Given the description of an element on the screen output the (x, y) to click on. 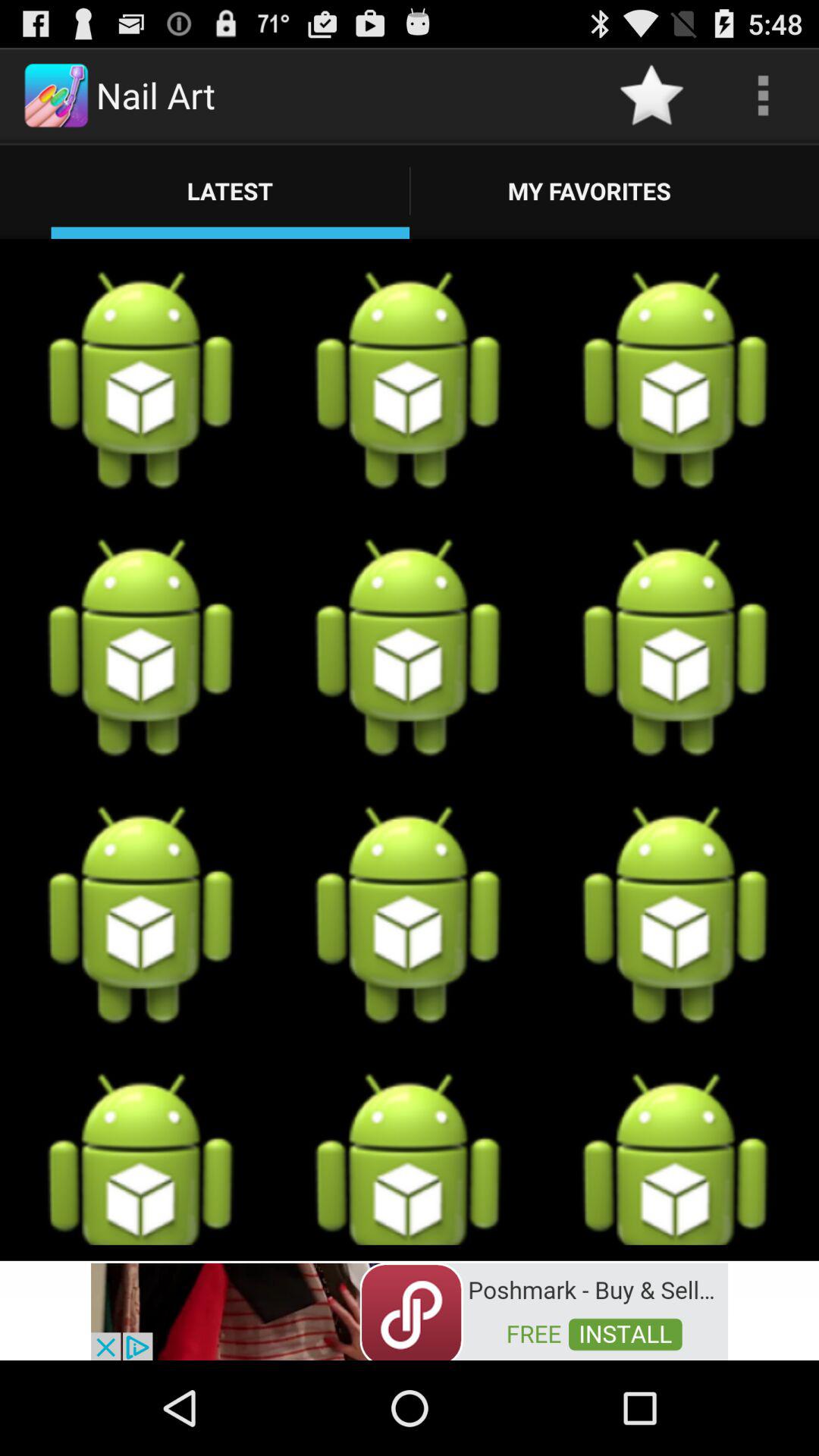
open menu (763, 95)
